Given the description of an element on the screen output the (x, y) to click on. 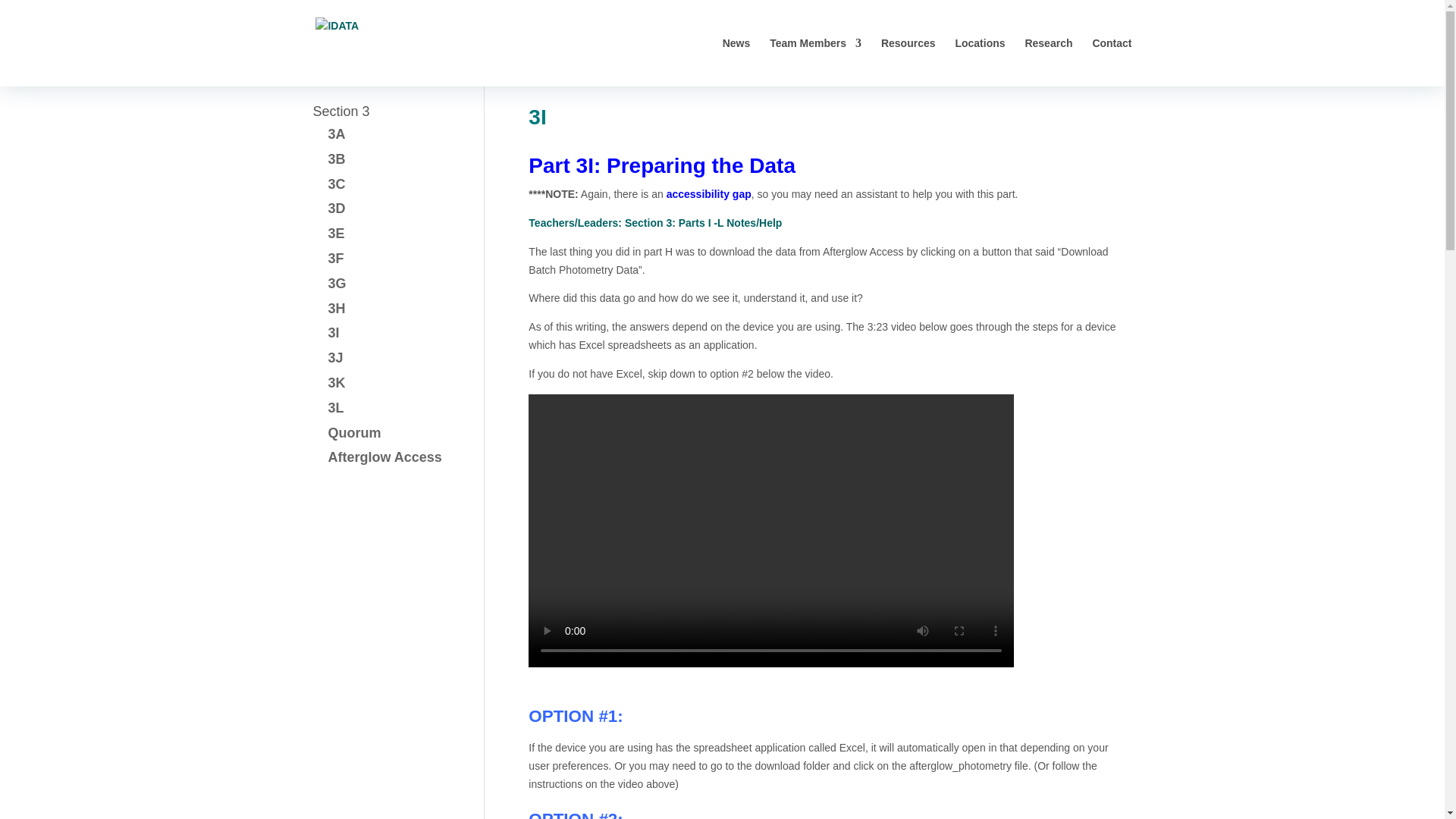
3C (336, 183)
3D (336, 208)
3K (336, 382)
Quorum (353, 432)
Research (1048, 61)
Resources (908, 61)
3L (335, 407)
3B (336, 159)
Contact (1111, 61)
3H (336, 308)
News (736, 61)
3G (336, 283)
Afterglow Access (384, 457)
3J (334, 357)
3I (333, 332)
